Given the description of an element on the screen output the (x, y) to click on. 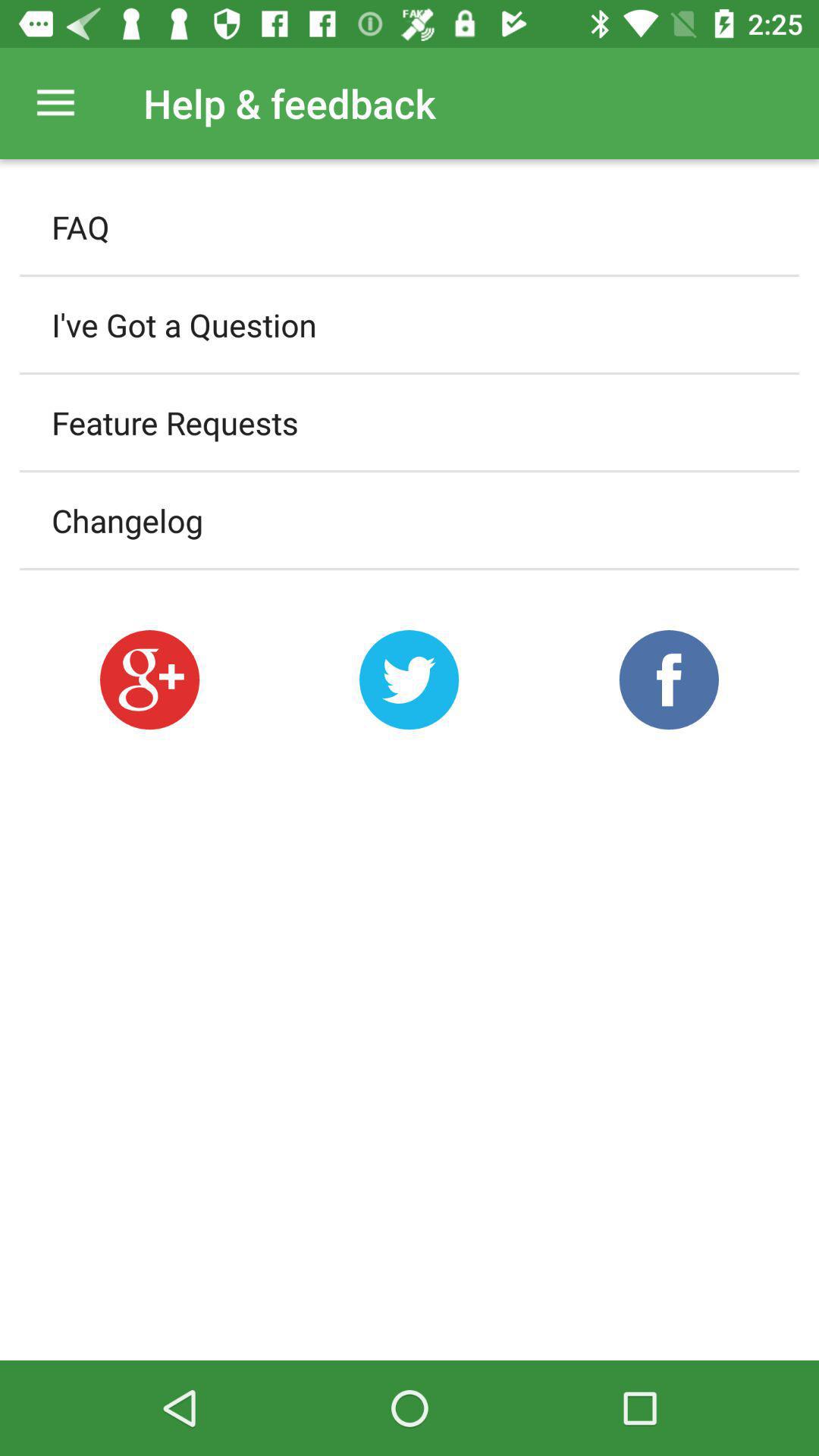
launch changelog (409, 520)
